Given the description of an element on the screen output the (x, y) to click on. 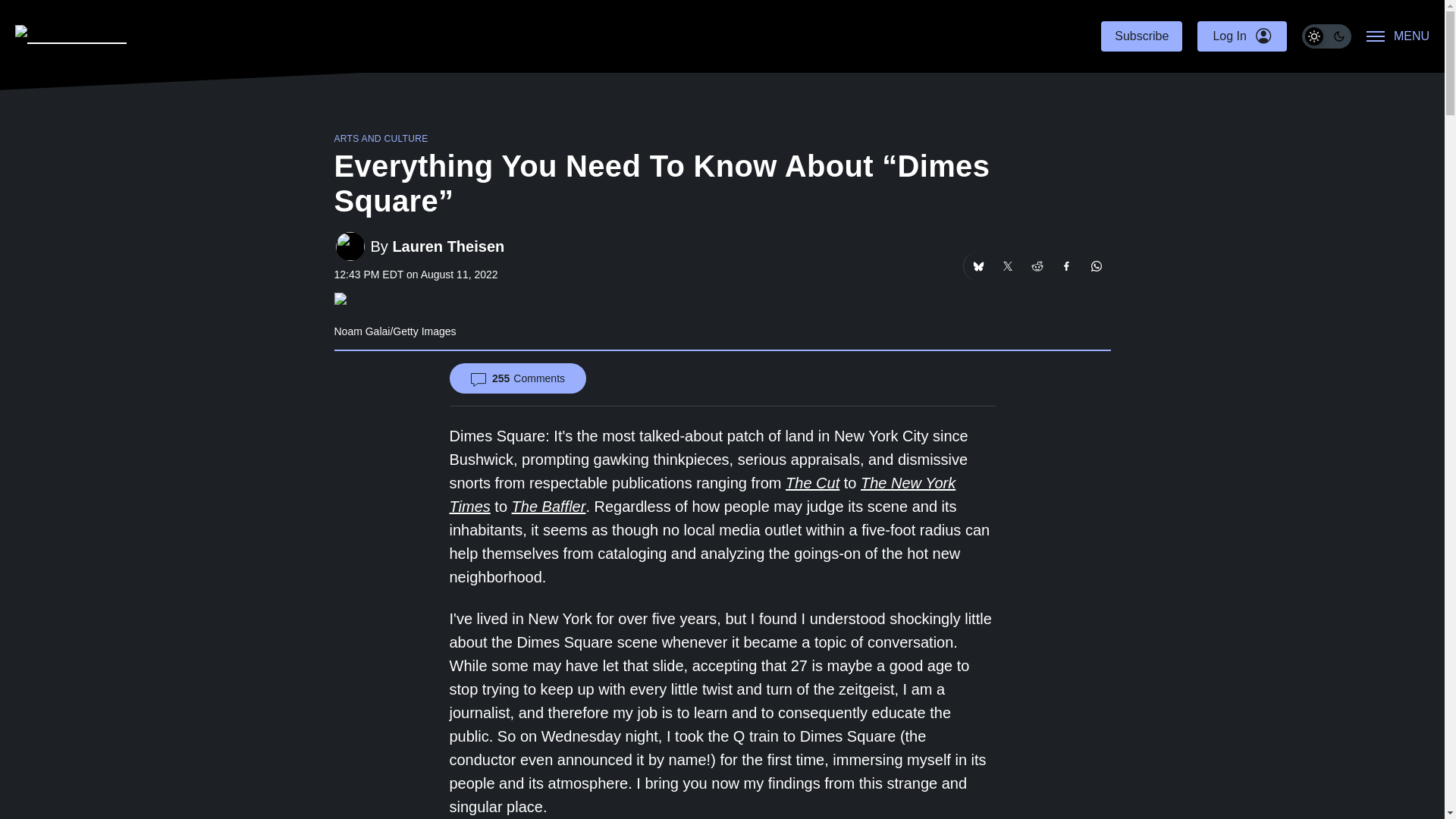
Share on Reddit (1036, 265)
Subscribe (1141, 36)
MENU (1398, 36)
ARTS AND CULTURE (380, 138)
Share on Facebook (1066, 265)
Log In (1240, 36)
Share on Bluesky (976, 265)
Lauren Theisen (447, 246)
